Given the description of an element on the screen output the (x, y) to click on. 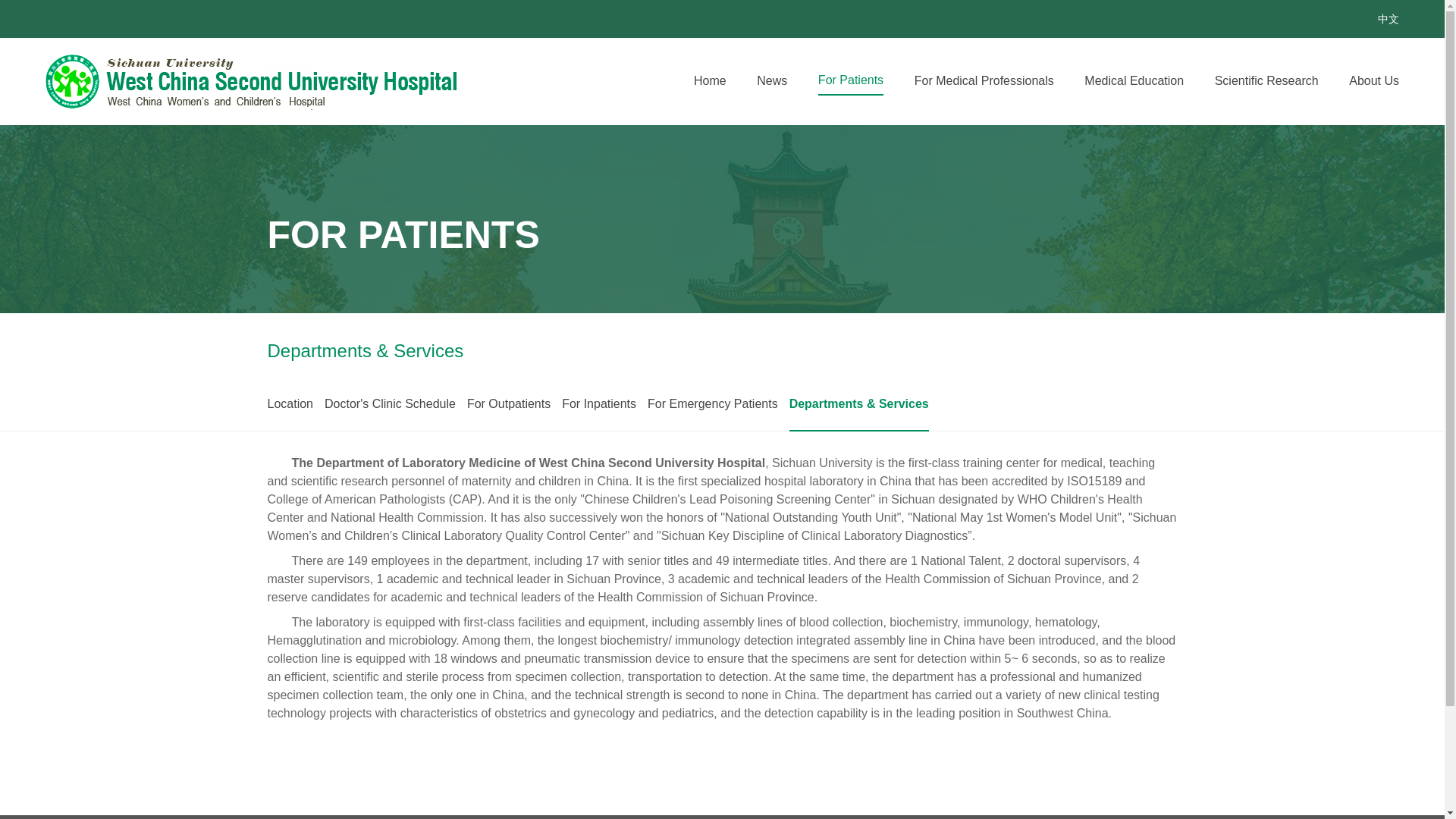
Home (710, 81)
About Us (1374, 81)
For Emergency Patients (712, 404)
For Outpatients (508, 405)
For Medical Professionals (984, 81)
Medical Education (1133, 81)
Doctor's Clinic Schedule (389, 405)
Scientific Research (1266, 81)
News (772, 81)
For Patients (850, 80)
For Inpatients (599, 404)
